Given the description of an element on the screen output the (x, y) to click on. 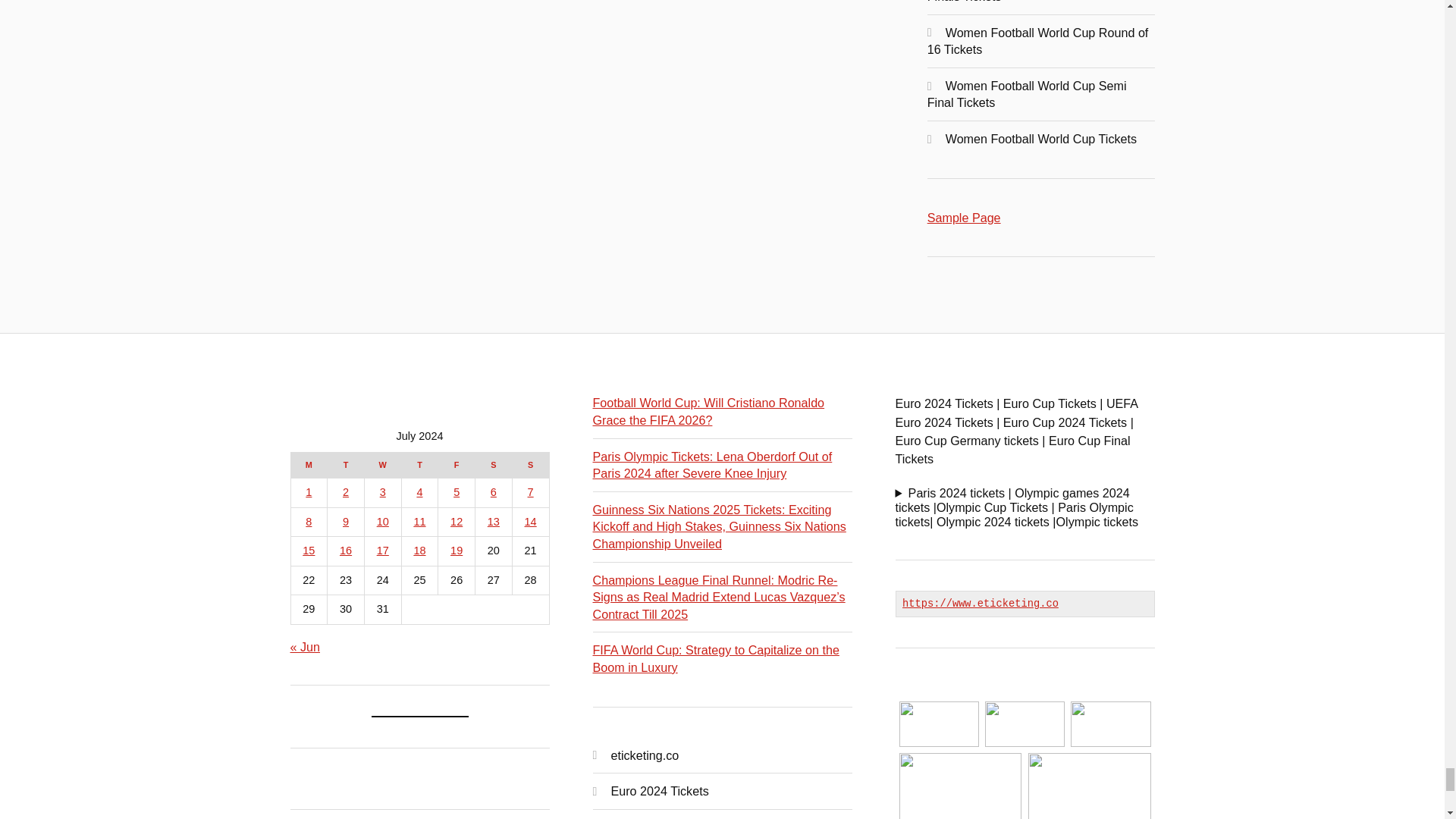
Saturday (494, 465)
Thursday (419, 465)
Sunday (530, 465)
Tuesday (346, 465)
Wednesday (382, 465)
Friday (457, 465)
Monday (308, 465)
